Given the description of an element on the screen output the (x, y) to click on. 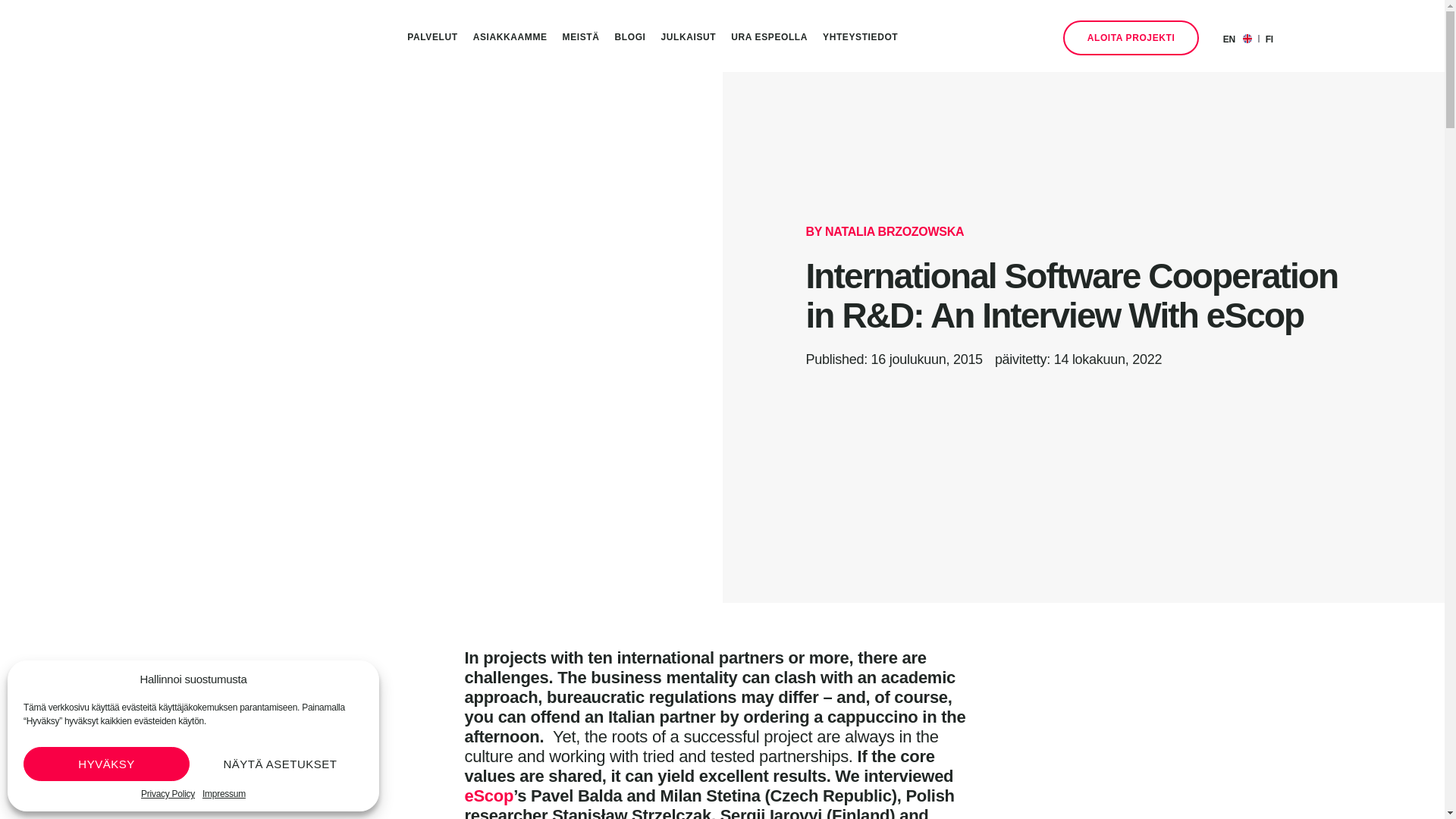
Privacy Policy (168, 793)
URA ESPEOLLA (769, 37)
eScop (488, 795)
ASIAKKAAMME (509, 37)
JULKAISUT (688, 37)
YHTEYSTIEDOT (860, 37)
BLOGI (630, 37)
PALVELUT (431, 37)
BY NATALIA BRZOZOWSKA (884, 231)
Impressum (224, 793)
